Given the description of an element on the screen output the (x, y) to click on. 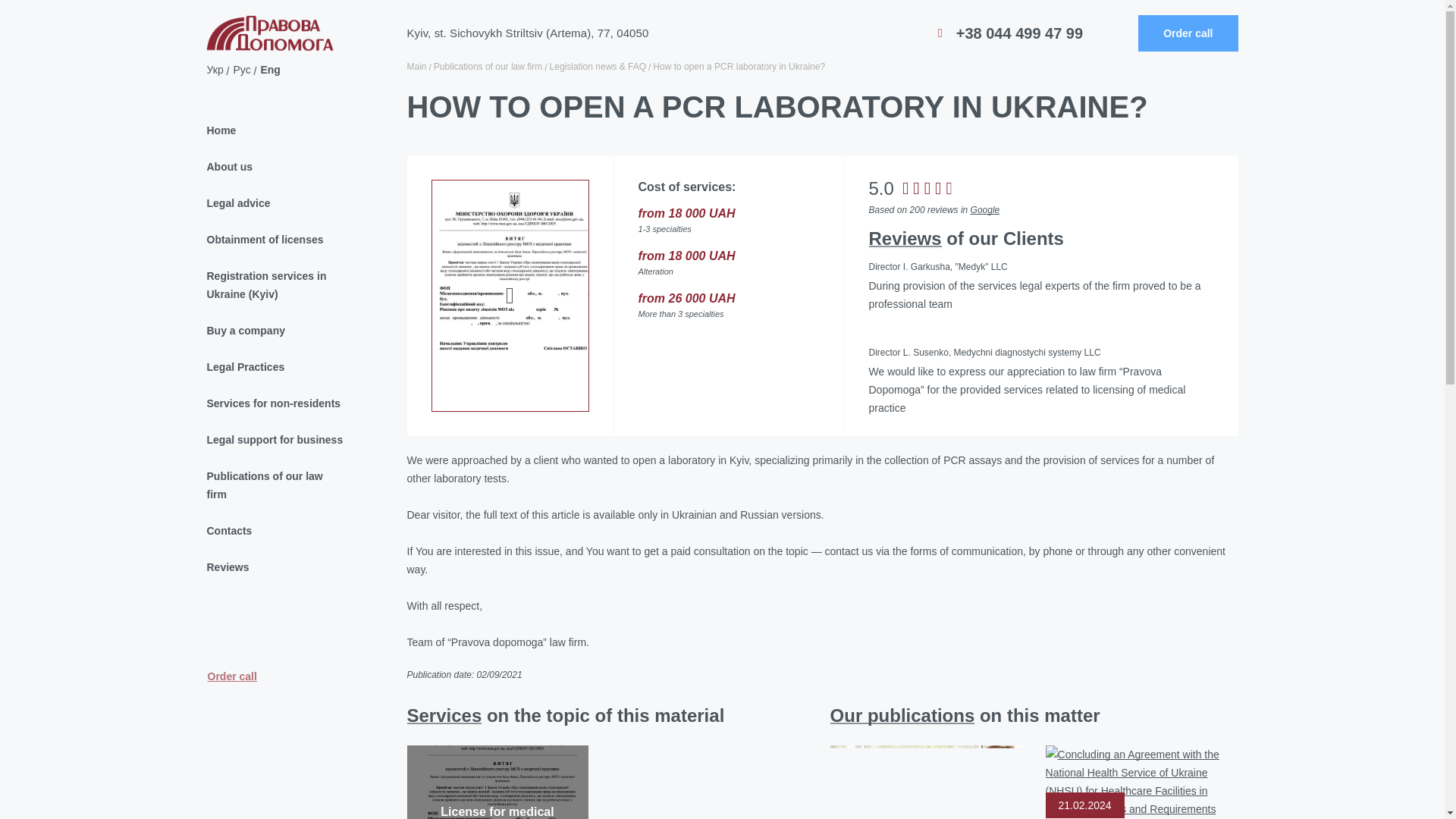
Home (270, 130)
Legal advice (270, 203)
About us (270, 166)
Eng (269, 69)
Order call (1187, 33)
Obtainment of licenses (270, 239)
